Given the description of an element on the screen output the (x, y) to click on. 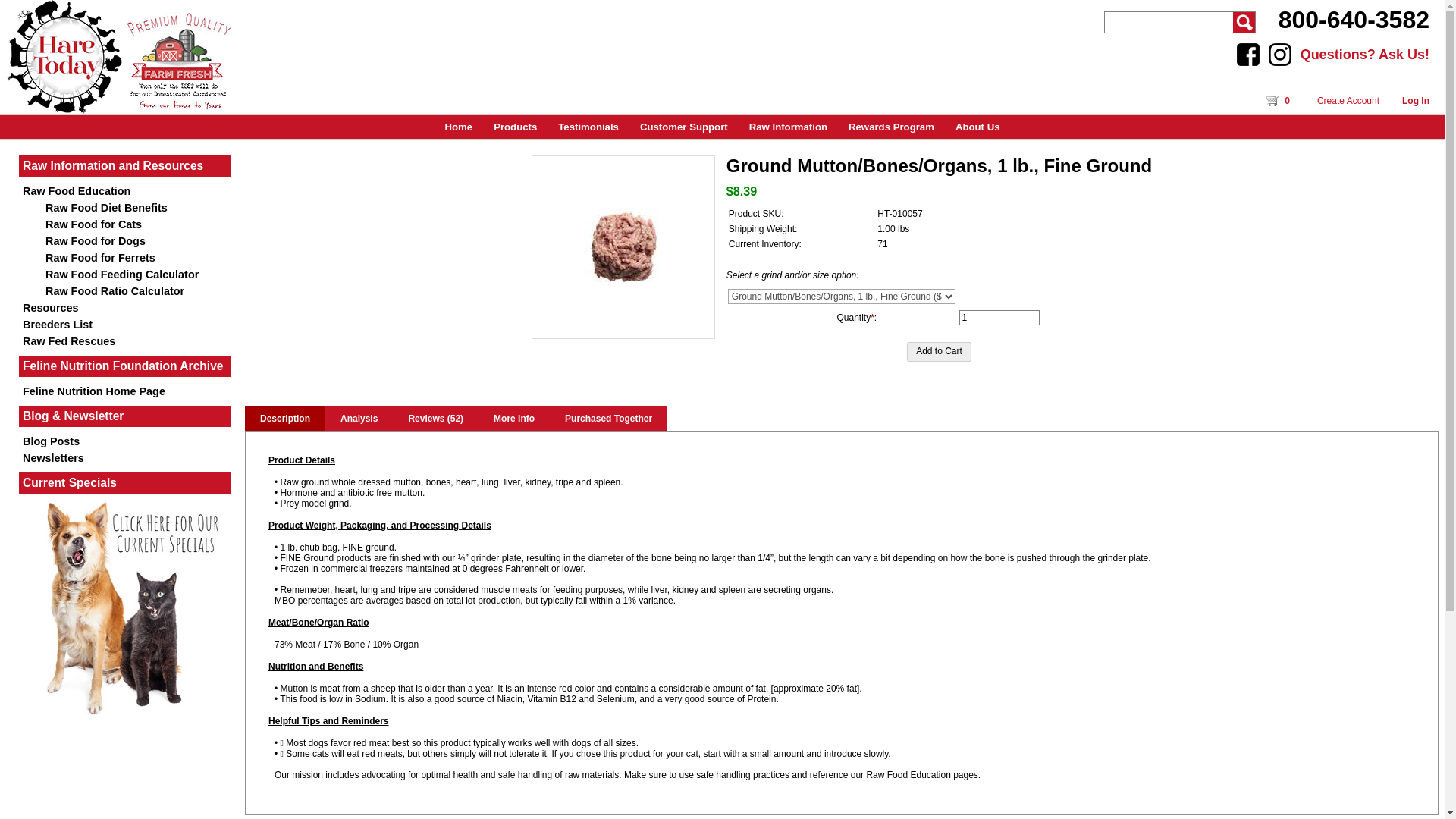
0 (1280, 101)
Follow Us on Instagram (1279, 54)
Testimonials (587, 126)
Raw Information (788, 126)
Home (458, 126)
Customer Support (683, 126)
1 (999, 317)
Rewards Program (891, 126)
Log In (1415, 100)
Create Account (1347, 100)
Follow Us on Facebook (1247, 54)
Products (515, 126)
Add to Cart (939, 351)
Questions? Ask Us! (1364, 54)
